Given the description of an element on the screen output the (x, y) to click on. 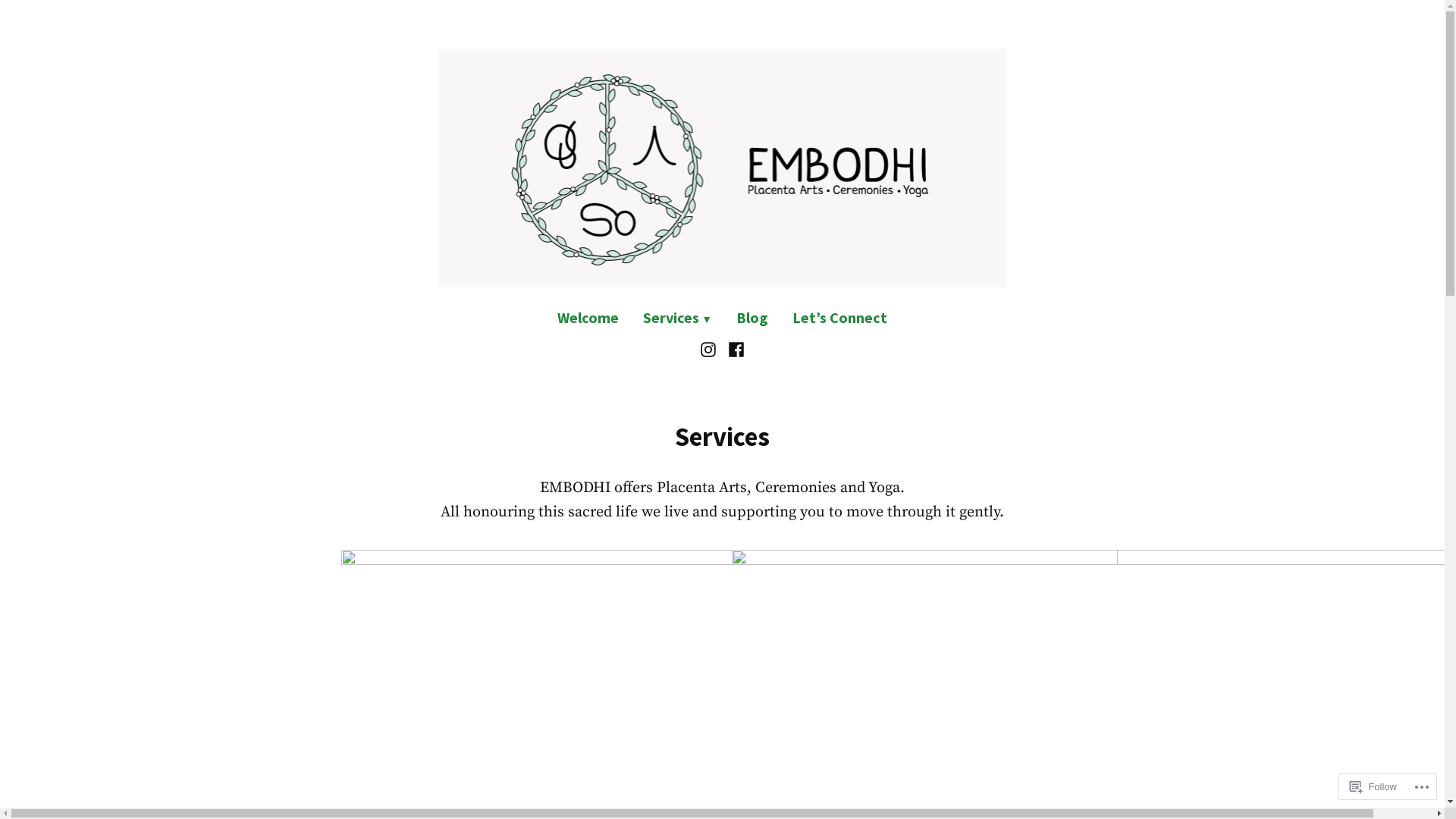
Services Element type: text (677, 318)
Blog Element type: text (752, 318)
Welcome Element type: text (593, 318)
Follow Element type: text (1372, 786)
EMBODHI Element type: text (397, 305)
